Given the description of an element on the screen output the (x, y) to click on. 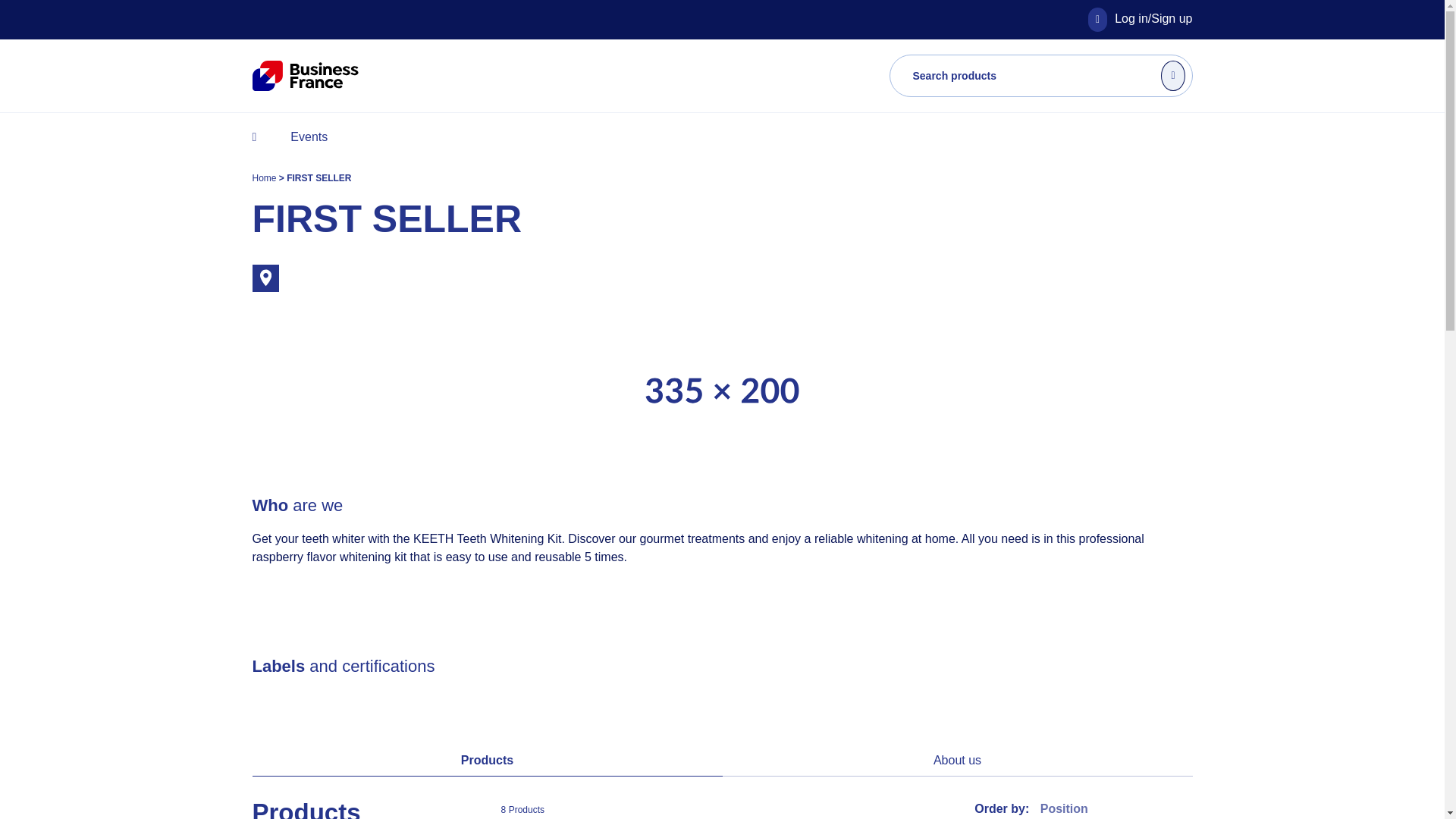
Events (308, 136)
About us (957, 759)
Home (264, 177)
Products (487, 759)
Home (264, 177)
